Given the description of an element on the screen output the (x, y) to click on. 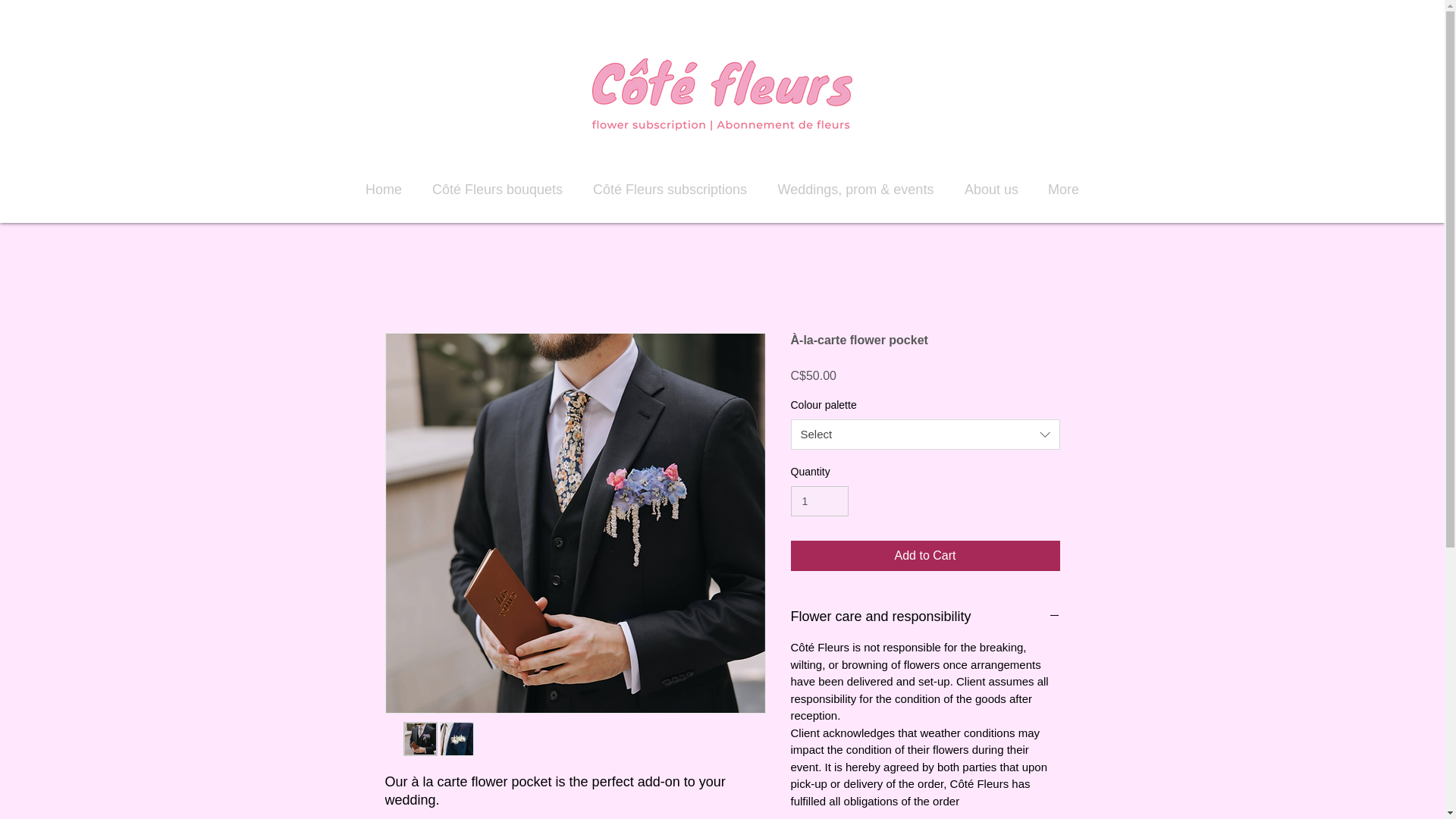
Original on Transparent.png (721, 94)
Flower care and responsibility (924, 616)
Select (924, 434)
About us (990, 189)
1 (818, 501)
Home (383, 189)
Add to Cart (924, 555)
